Given the description of an element on the screen output the (x, y) to click on. 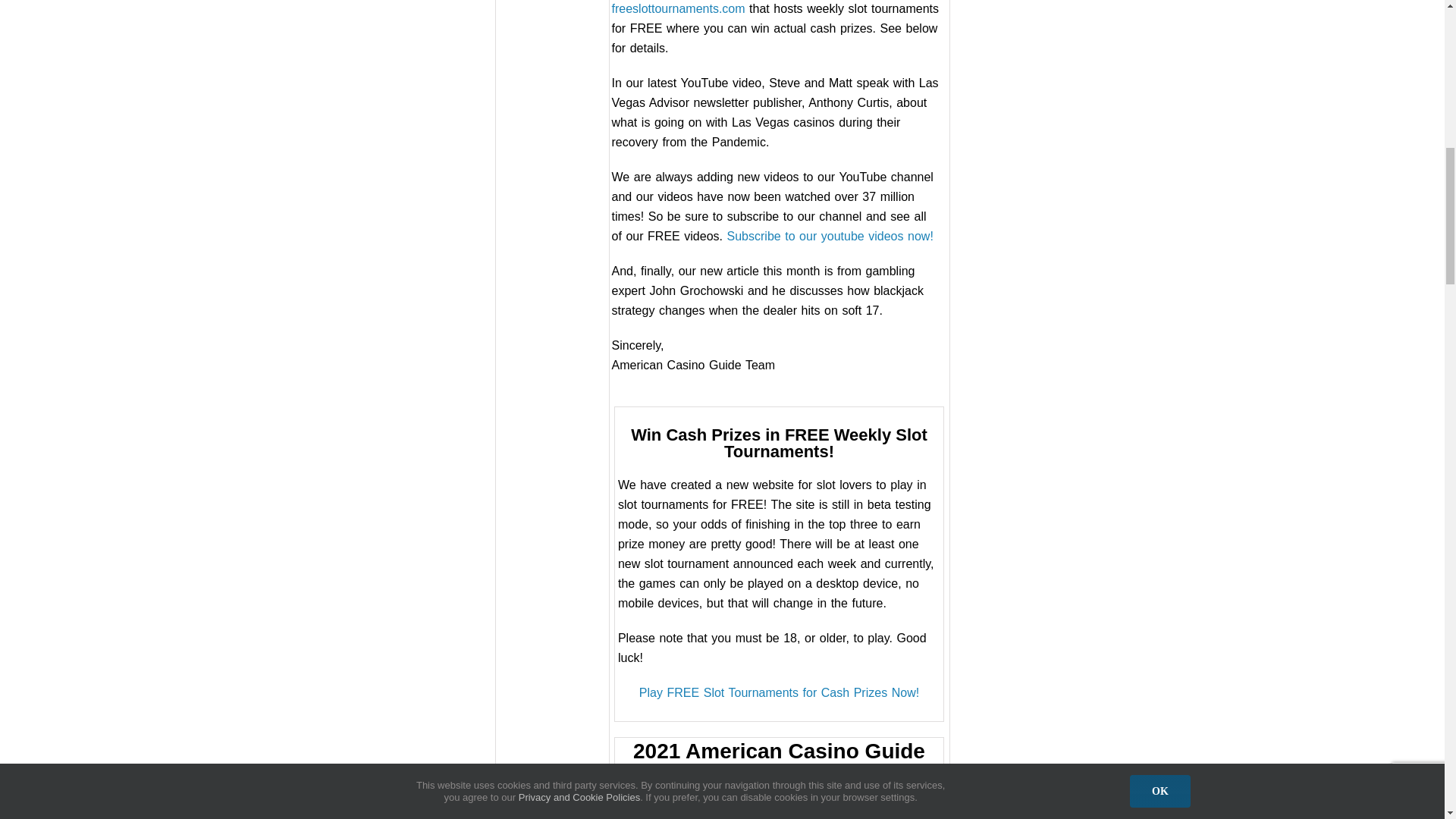
Play FREE Slot Tournaments (778, 692)
